Given the description of an element on the screen output the (x, y) to click on. 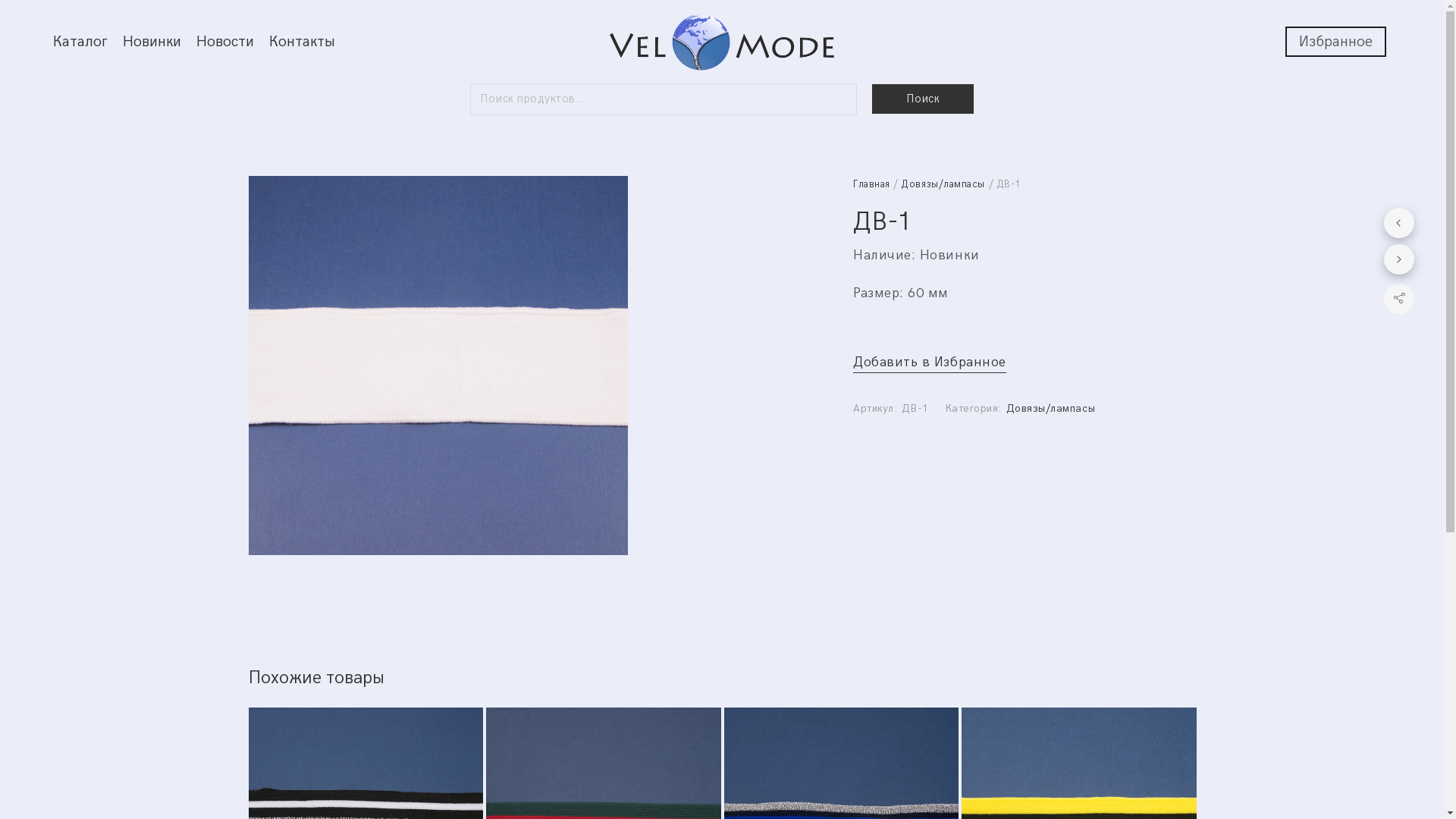
Velmode Element type: hover (721, 41)
